Given the description of an element on the screen output the (x, y) to click on. 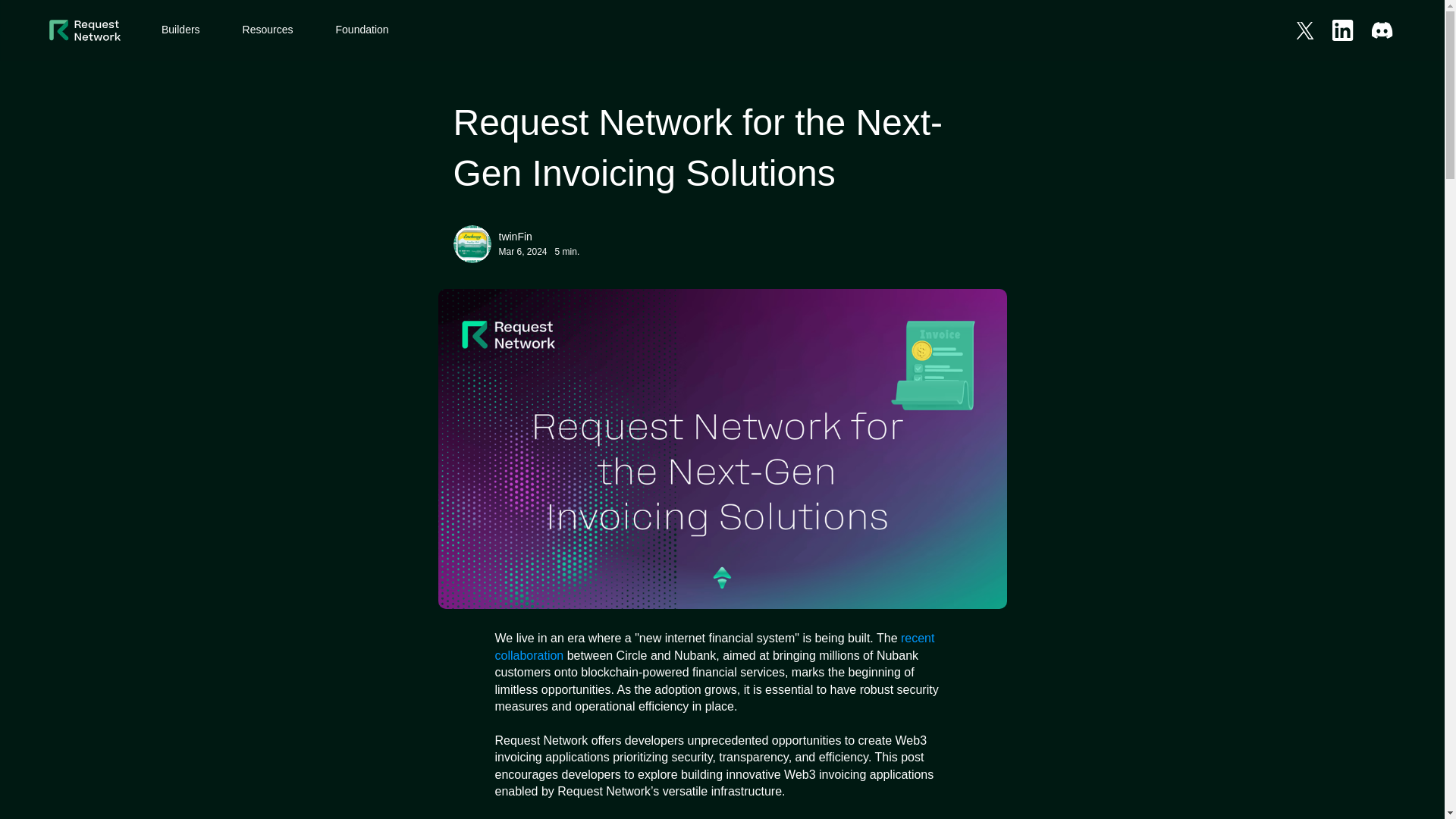
Builders (180, 29)
Foundation (362, 29)
recent collaboration (716, 645)
Resources (267, 29)
